Given the description of an element on the screen output the (x, y) to click on. 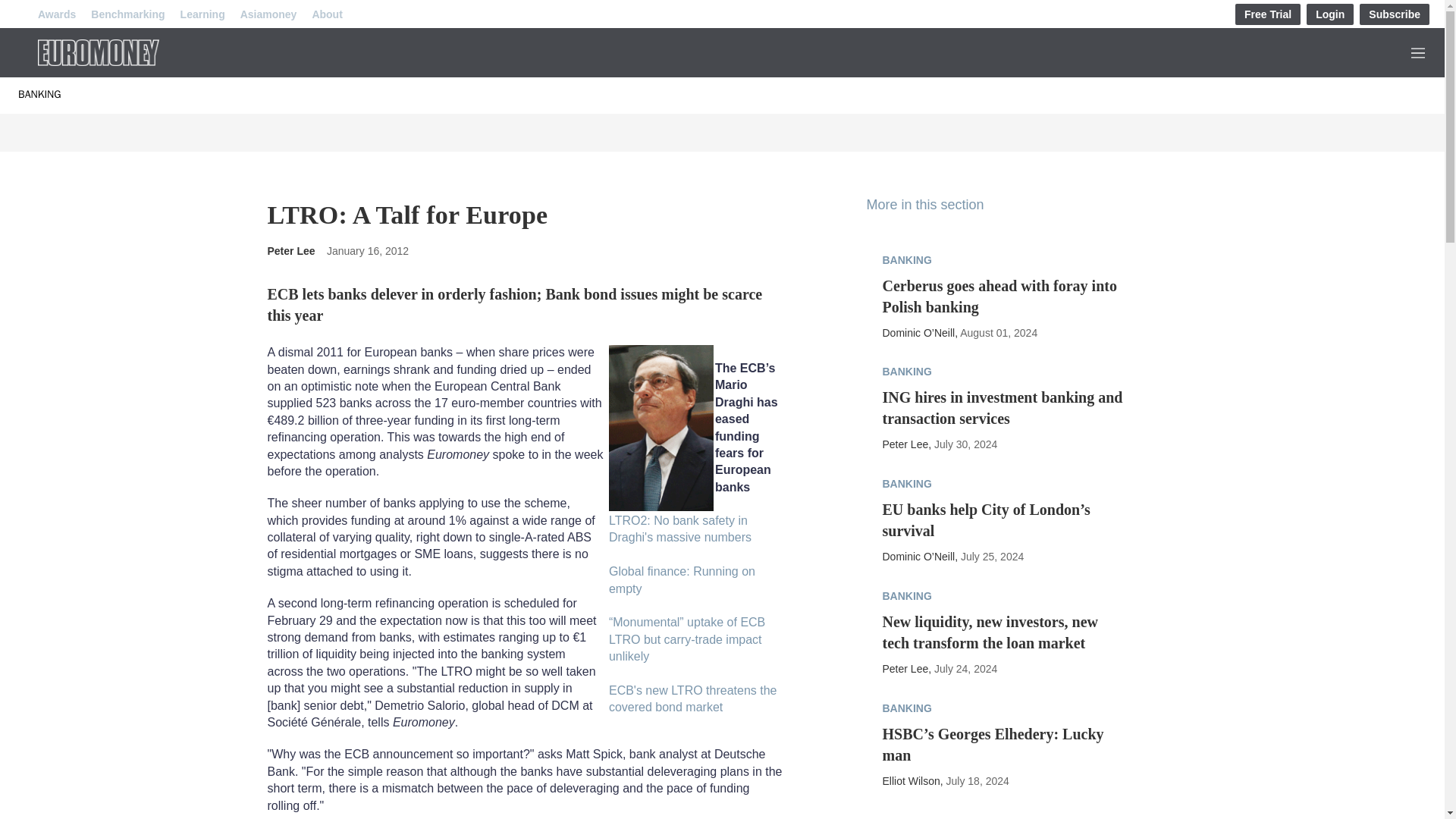
Login (1329, 13)
About (326, 13)
Learning (202, 13)
Benchmarking (127, 13)
Asiamoney (268, 13)
Awards (56, 13)
Subscribe (1394, 13)
Free Trial (1267, 13)
